Given the description of an element on the screen output the (x, y) to click on. 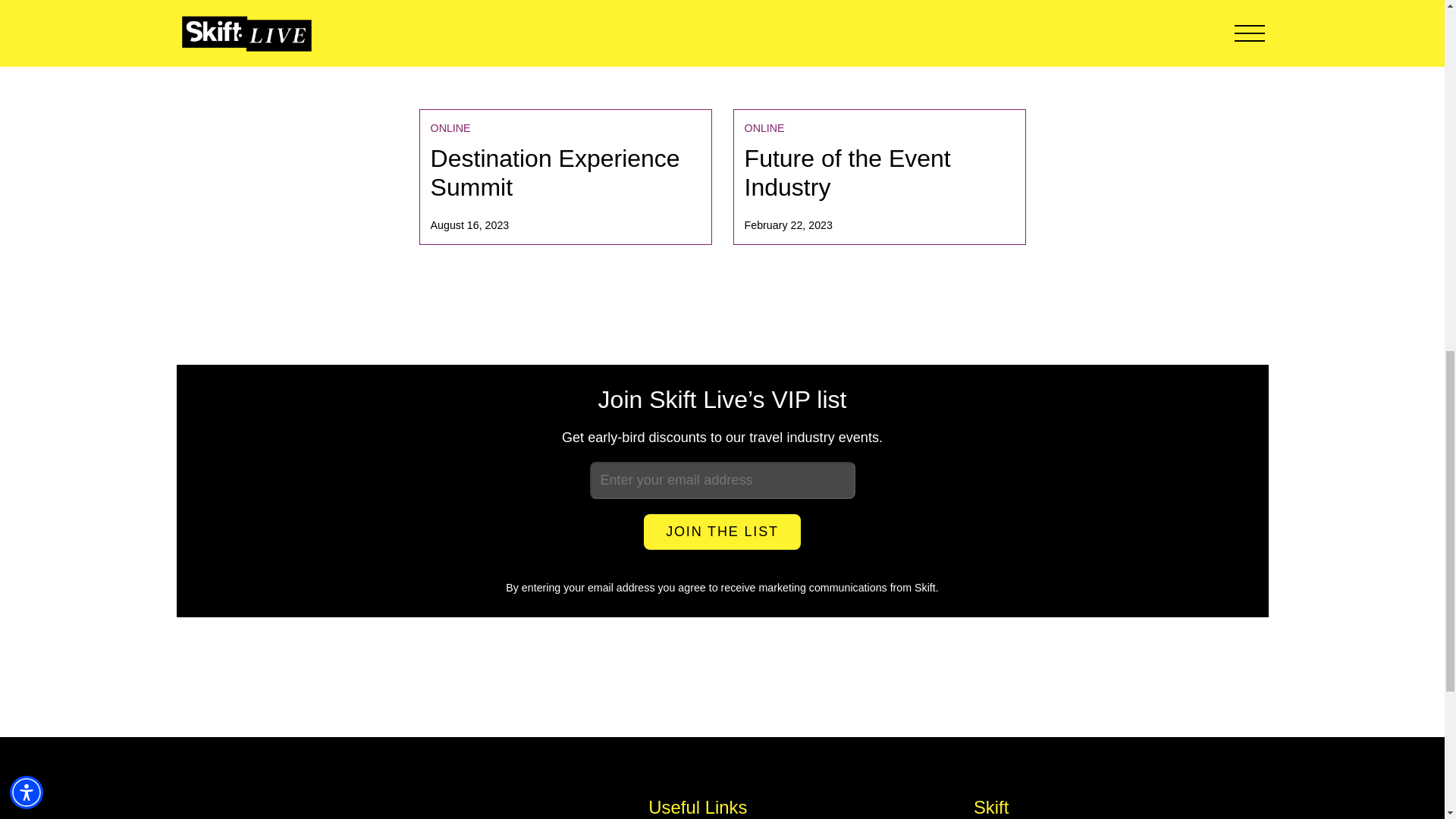
Join the list (878, 176)
Join the list (565, 176)
